Given the description of an element on the screen output the (x, y) to click on. 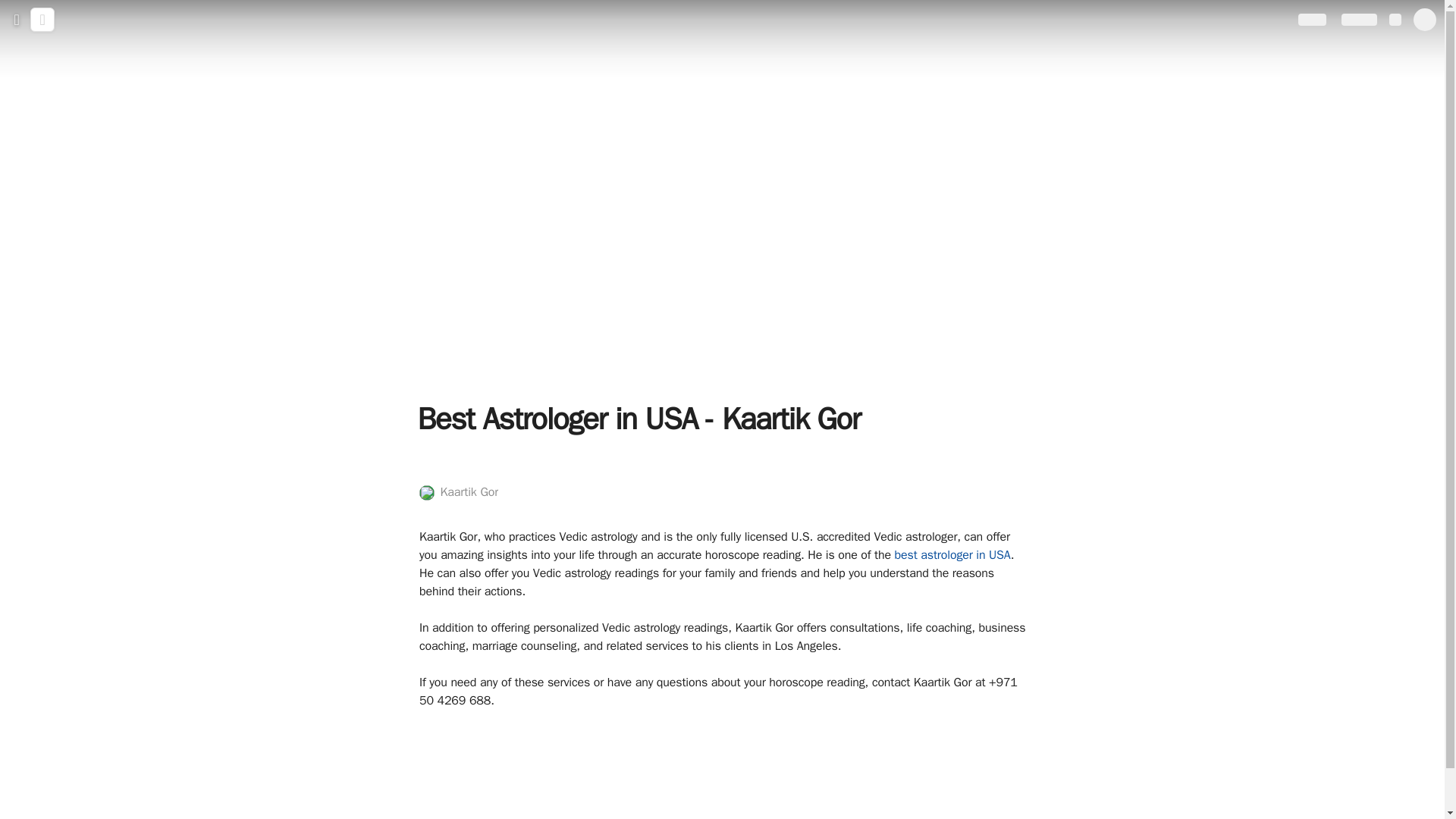
Kaartik Gor (457, 492)
best astrologer in USA (951, 554)
